Given the description of an element on the screen output the (x, y) to click on. 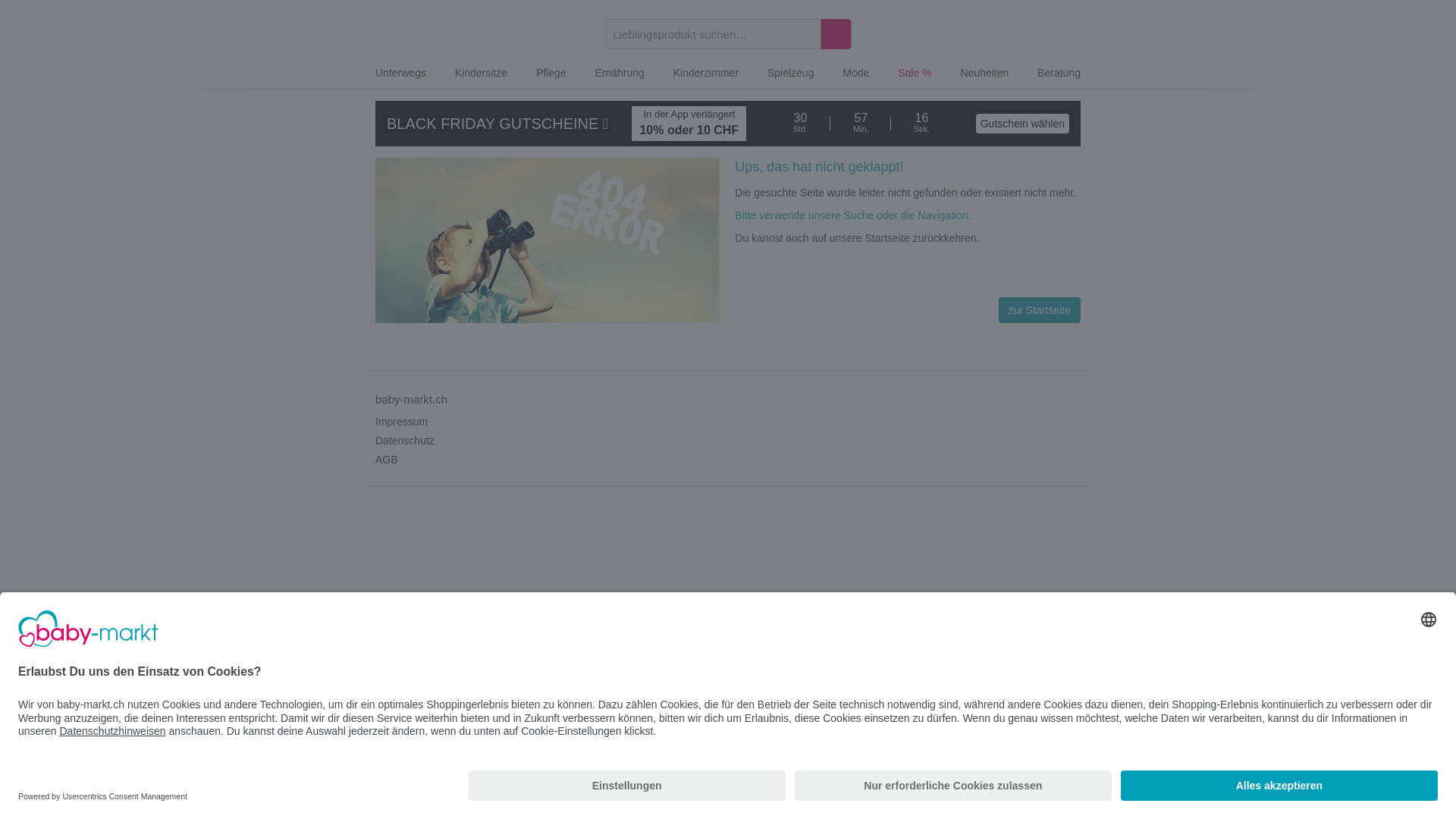
Kinderzimmer Element type: text (705, 73)
Unterwegs Element type: text (400, 73)
Warenkorb Element type: hover (1067, 37)
Beratung Element type: text (1058, 73)
Kindersitze Element type: text (480, 73)
Datenschutz Element type: text (404, 439)
Sale % Element type: text (914, 73)
Neuheiten Element type: text (984, 73)
Impressum Element type: text (401, 421)
Weihnachten Element type: hover (966, 37)
Mode Element type: text (855, 73)
Spielzeug Element type: text (790, 73)
Pflege Element type: text (551, 73)
AGB Element type: text (386, 459)
Mein Konto Element type: hover (999, 37)
zur Startseite Element type: text (1039, 310)
